Given the description of an element on the screen output the (x, y) to click on. 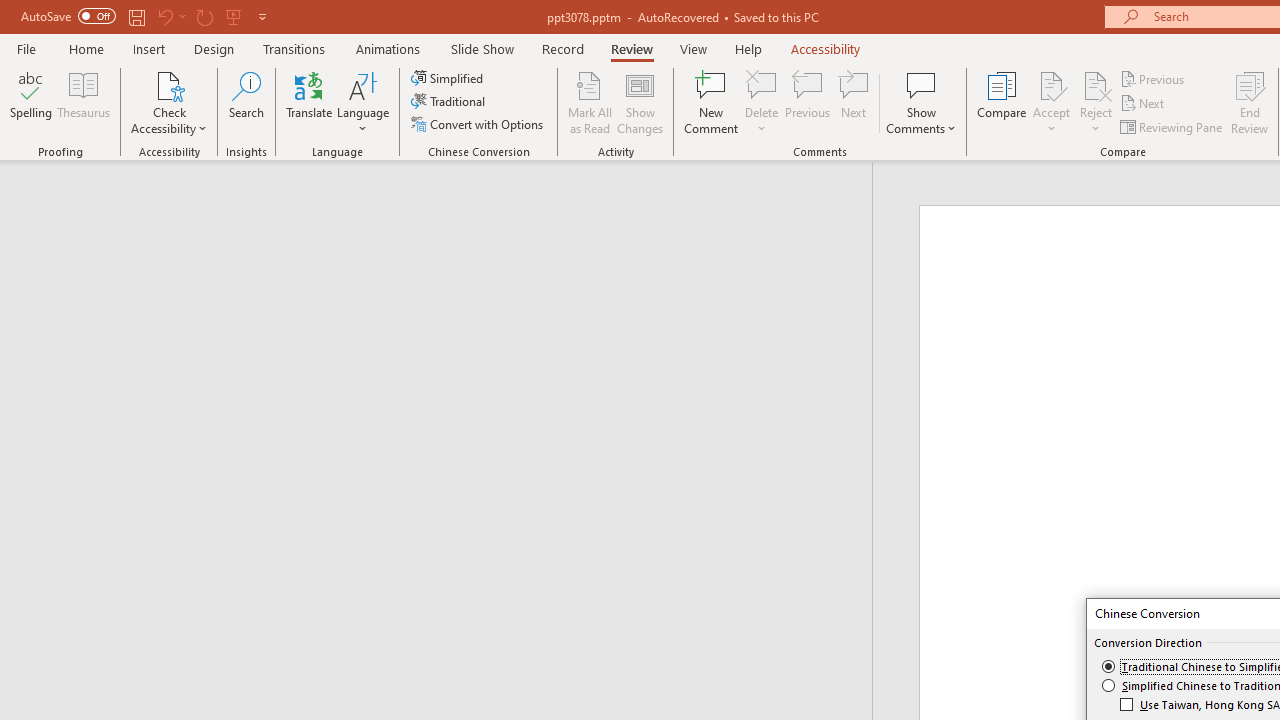
Mark All as Read (589, 102)
Show Changes (639, 102)
